Given the description of an element on the screen output the (x, y) to click on. 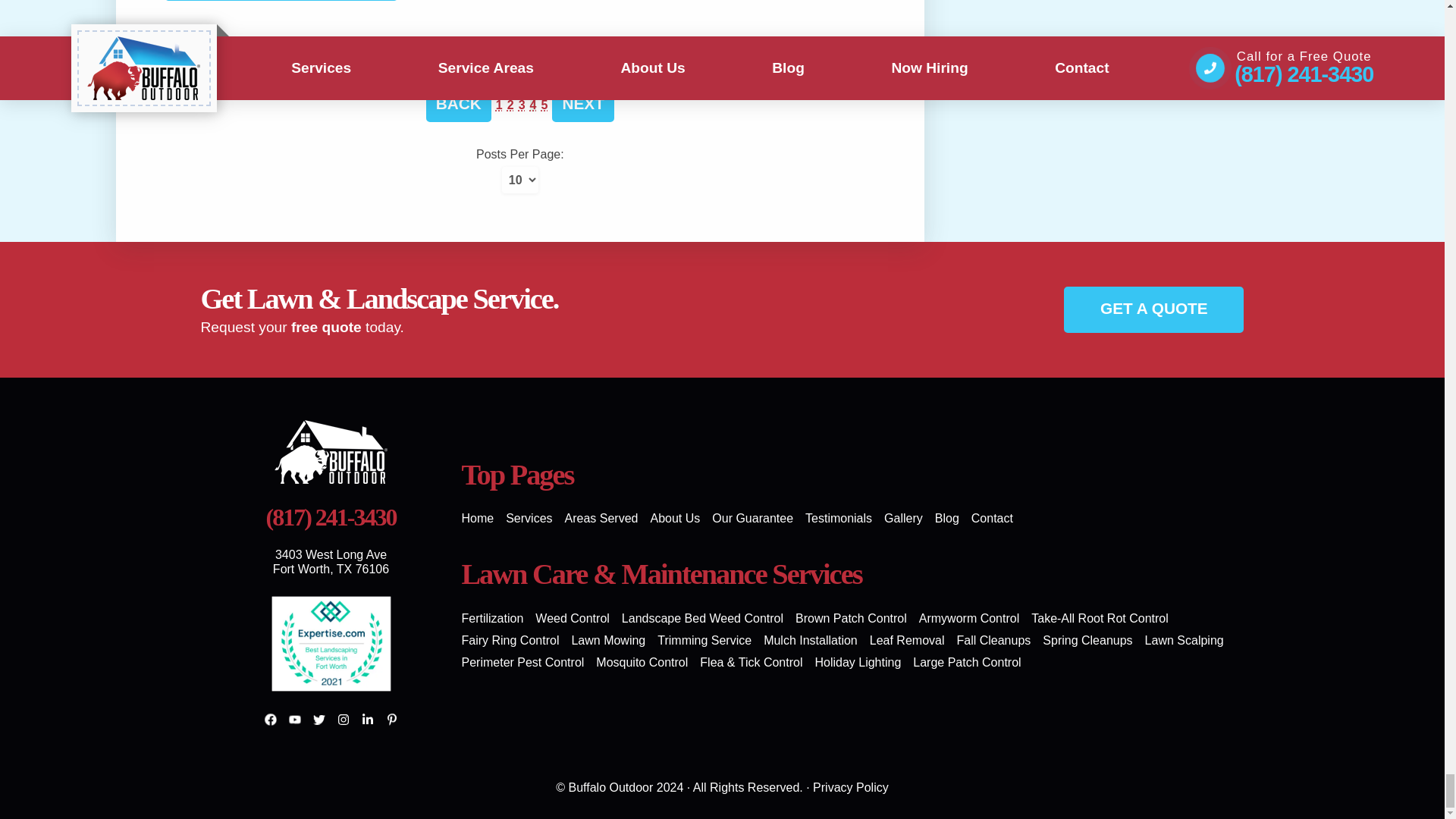
Back (459, 104)
Buffalo Outdoor on YouTube (293, 719)
Buffalo Outdoor on Twitter (317, 719)
Buffalo Outdoor on LinkedIn (366, 719)
Next (581, 104)
Buffalo Outdoor on Pinterest (390, 719)
Buffalo Outdoor on Facebook (269, 719)
Buffalo Outdoor on Instagram (342, 719)
